Given the description of an element on the screen output the (x, y) to click on. 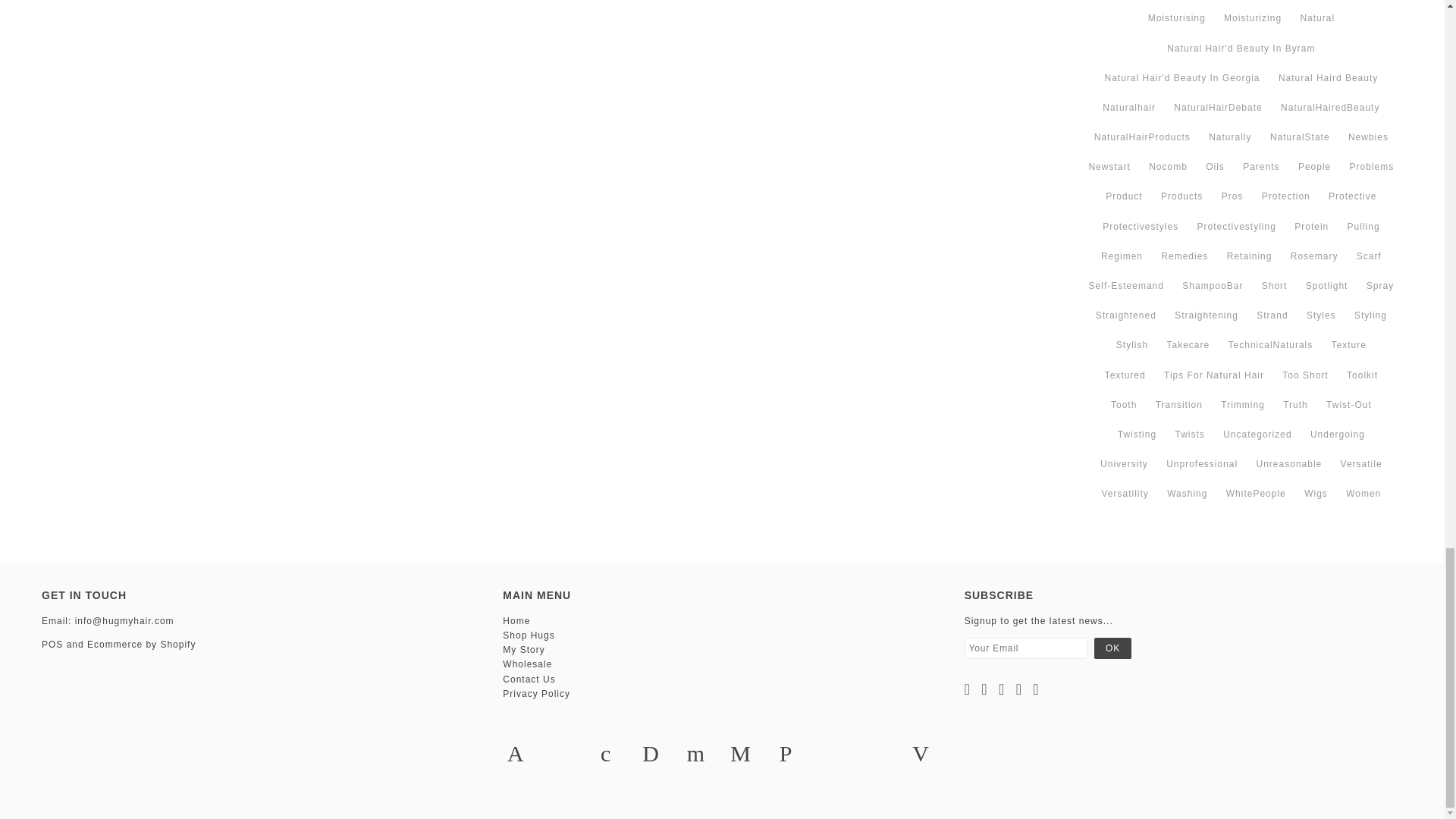
OK (1112, 648)
